Given the description of an element on the screen output the (x, y) to click on. 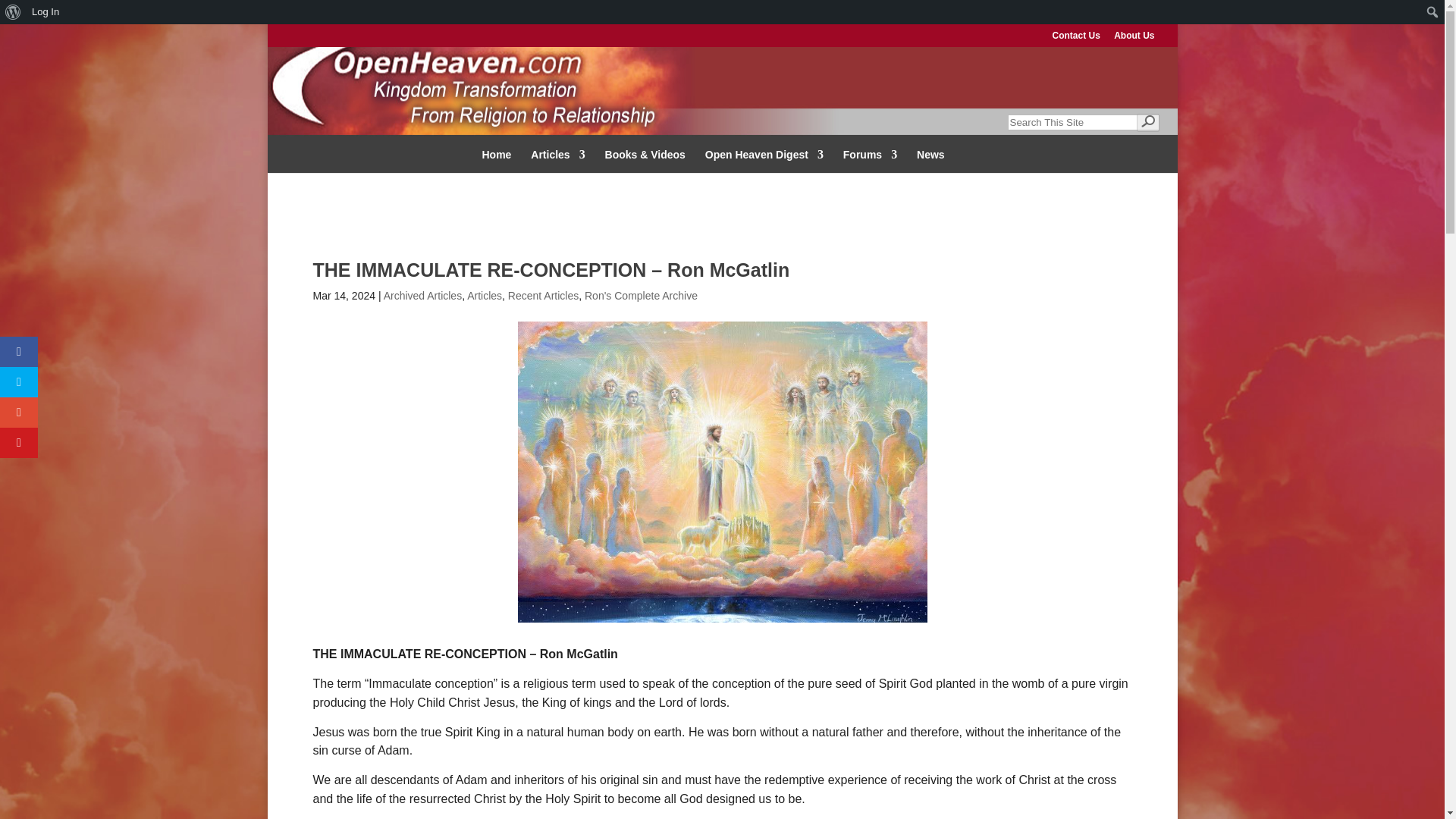
Articles (484, 295)
Contact Us (1075, 38)
Recent Articles (543, 295)
About Us (1133, 38)
Forums (869, 156)
Home (496, 156)
Articles (558, 156)
News (930, 156)
Ron's Complete Archive (641, 295)
Archived Articles (422, 295)
Open Heaven Digest (764, 156)
